Given the description of an element on the screen output the (x, y) to click on. 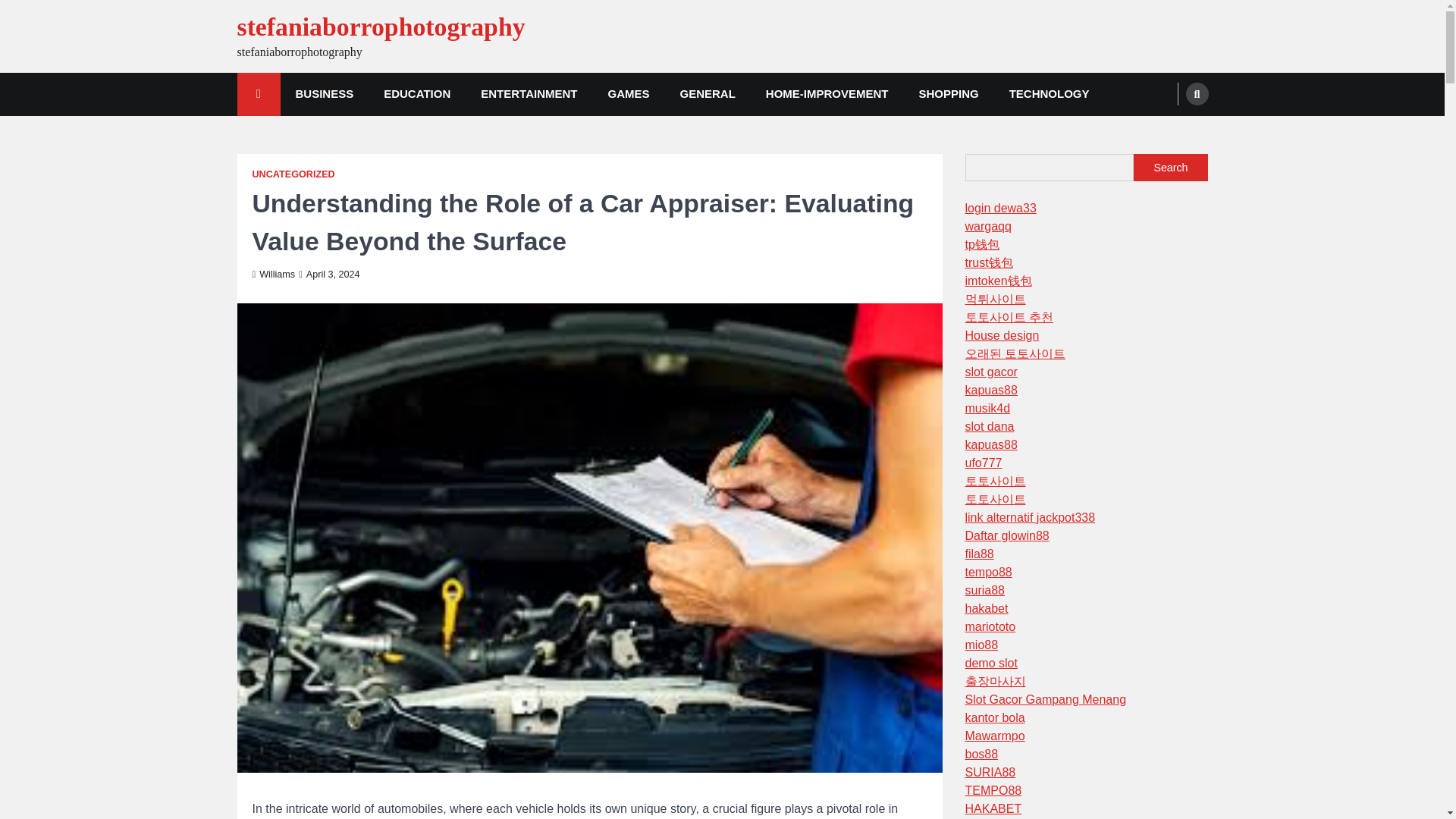
SHOPPING (949, 94)
EDUCATION (416, 94)
Search (1170, 166)
slot gacor (989, 371)
login dewa33 (999, 207)
BUSINESS (325, 94)
musik4d (986, 408)
GAMES (627, 94)
slot dana (988, 426)
kapuas88 (989, 444)
GENERAL (706, 94)
ENTERTAINMENT (528, 94)
House design (1001, 335)
Williams (273, 274)
wargaqq (986, 226)
